Given the description of an element on the screen output the (x, y) to click on. 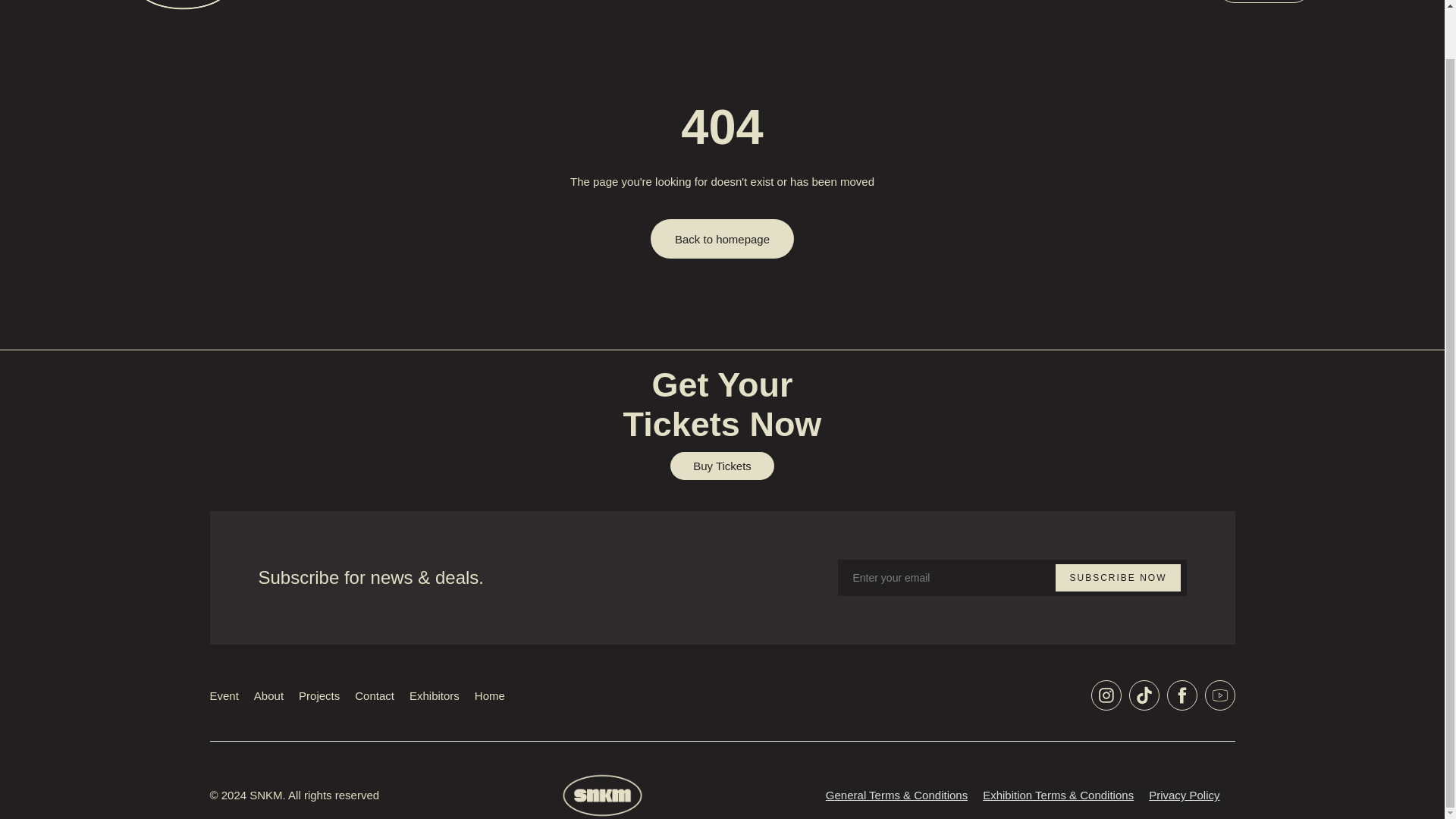
Projects (318, 694)
Event (223, 694)
Back to homepage (721, 238)
Privacy Policy (1184, 795)
Subscribe Now (1117, 577)
Buy Tickets (721, 466)
Home (489, 694)
Buy Tickets (1264, 1)
About (1102, 1)
Contact (374, 694)
Progam (1034, 1)
Upcoming Event (938, 1)
Subscribe Now (1117, 577)
About (268, 694)
Exhibitors (434, 694)
